Given the description of an element on the screen output the (x, y) to click on. 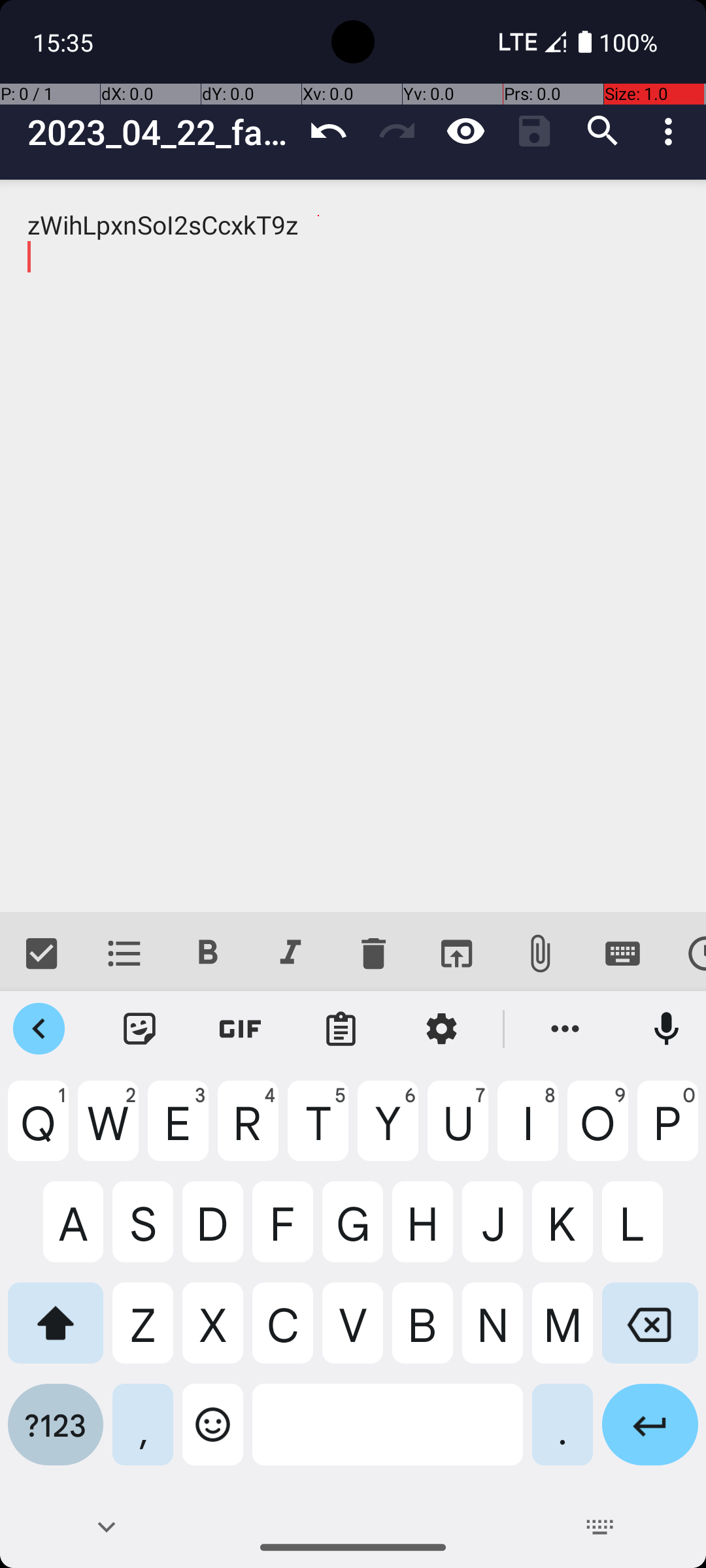
2023_04_22_favorite_book_quotes Element type: android.widget.TextView (160, 131)
zWihLpxnSoI2sCcxkT9z
 Element type: android.widget.EditText (353, 545)
